Given the description of an element on the screen output the (x, y) to click on. 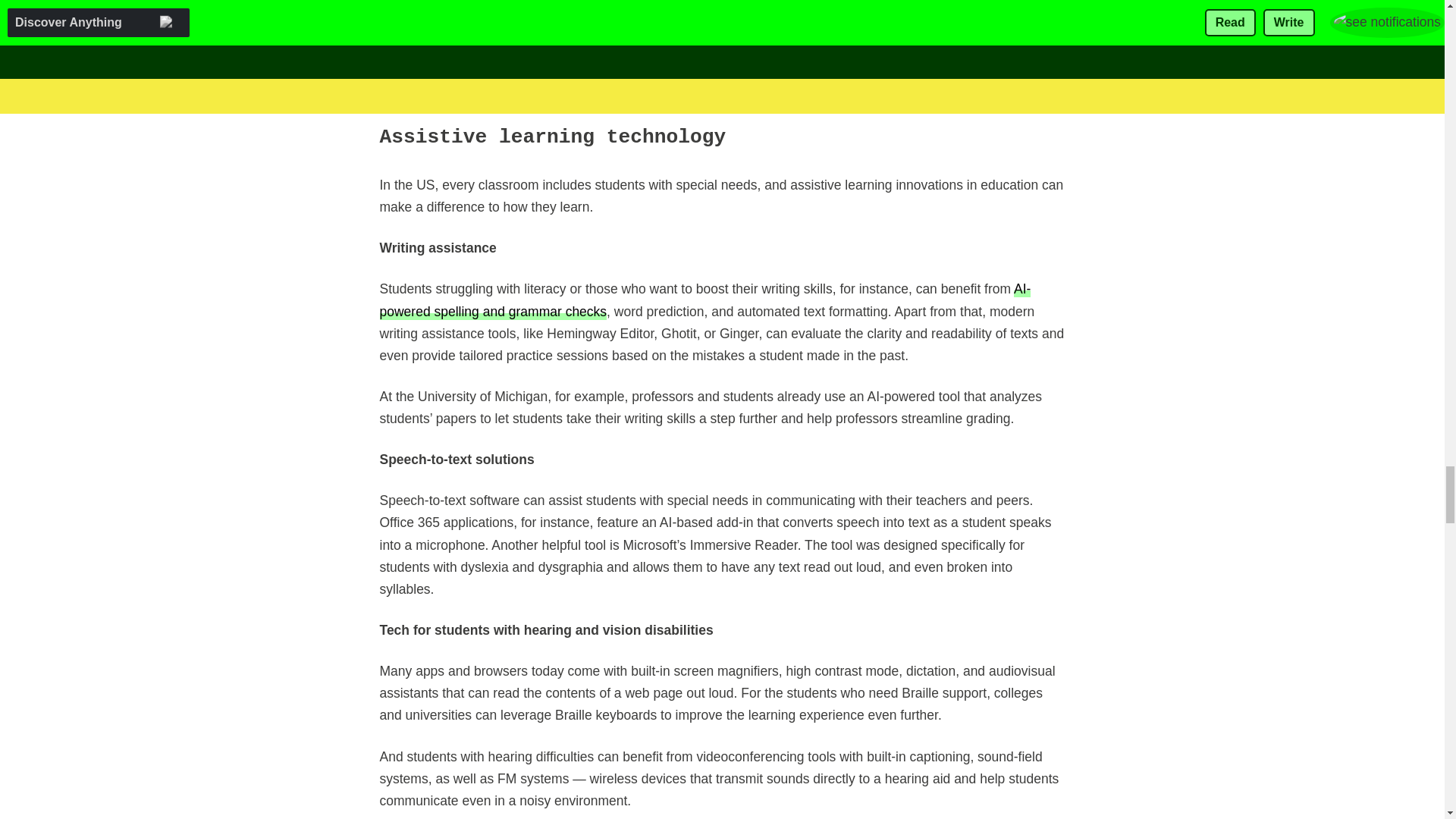
AI-powered spelling and grammar checks (704, 299)
